Given the description of an element on the screen output the (x, y) to click on. 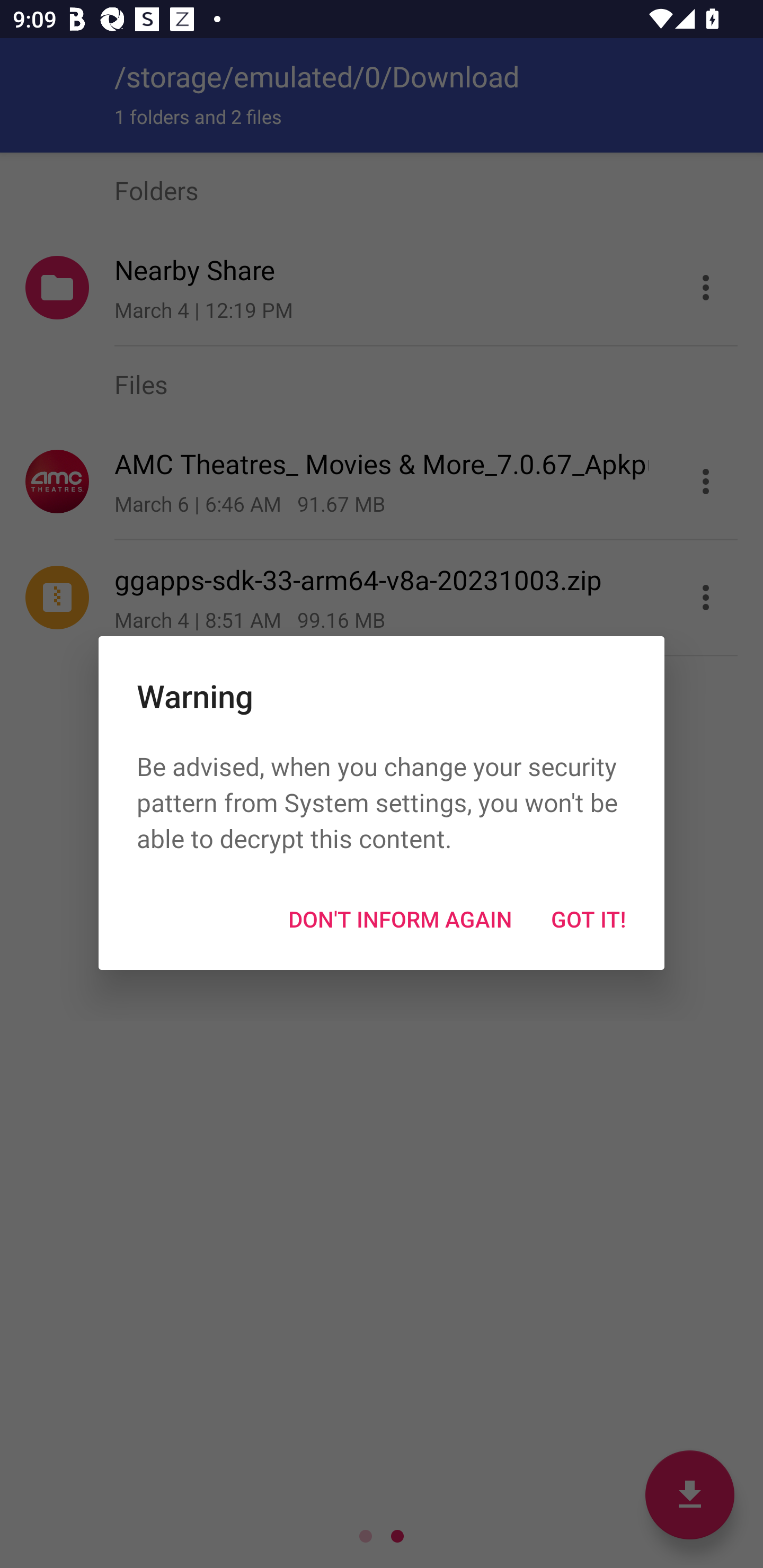
DON'T INFORM AGAIN (399, 918)
GOT IT! (588, 918)
